Given the description of an element on the screen output the (x, y) to click on. 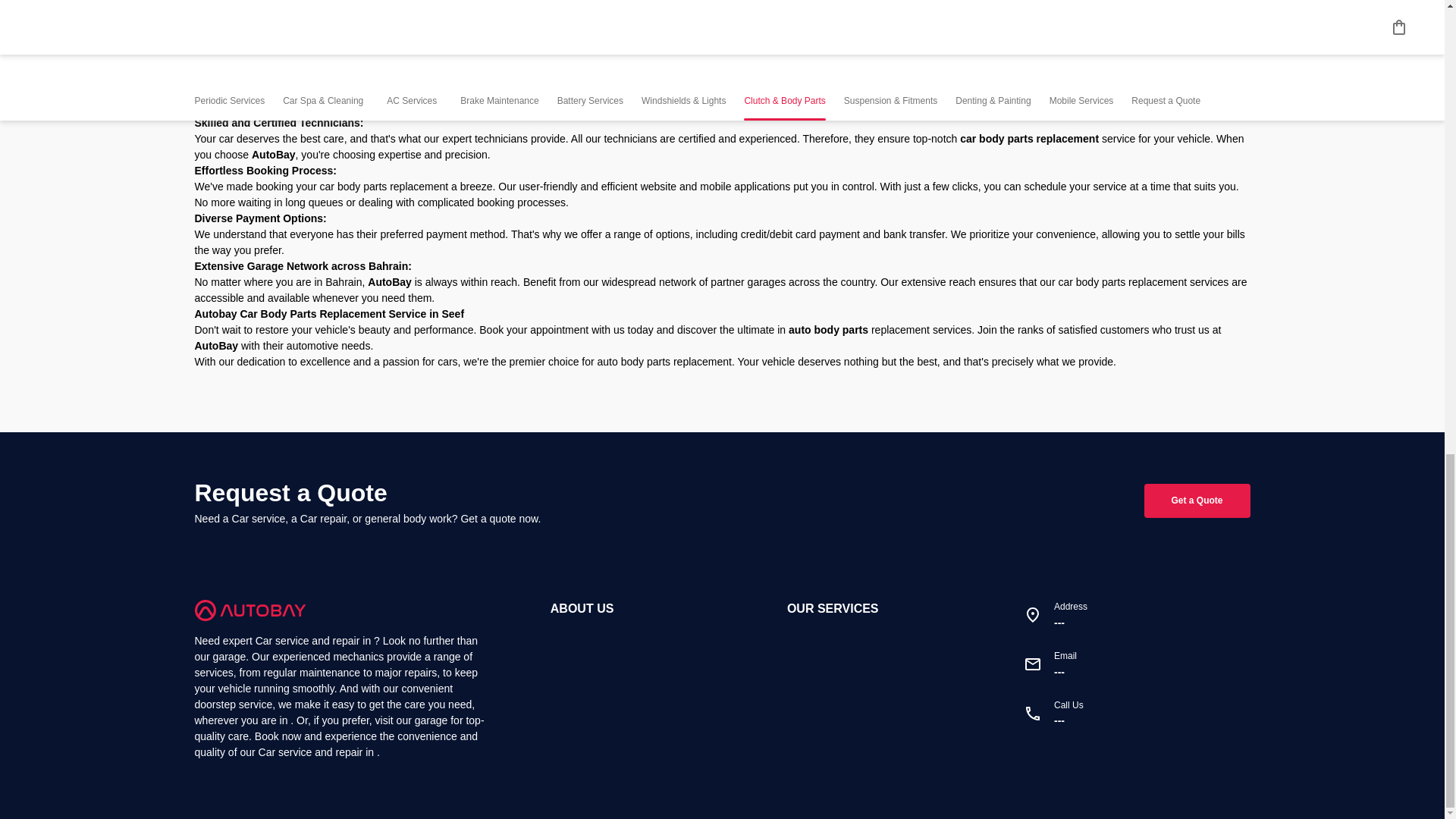
Get a Quote (1135, 664)
Get a Quote (1196, 500)
